Given the description of an element on the screen output the (x, y) to click on. 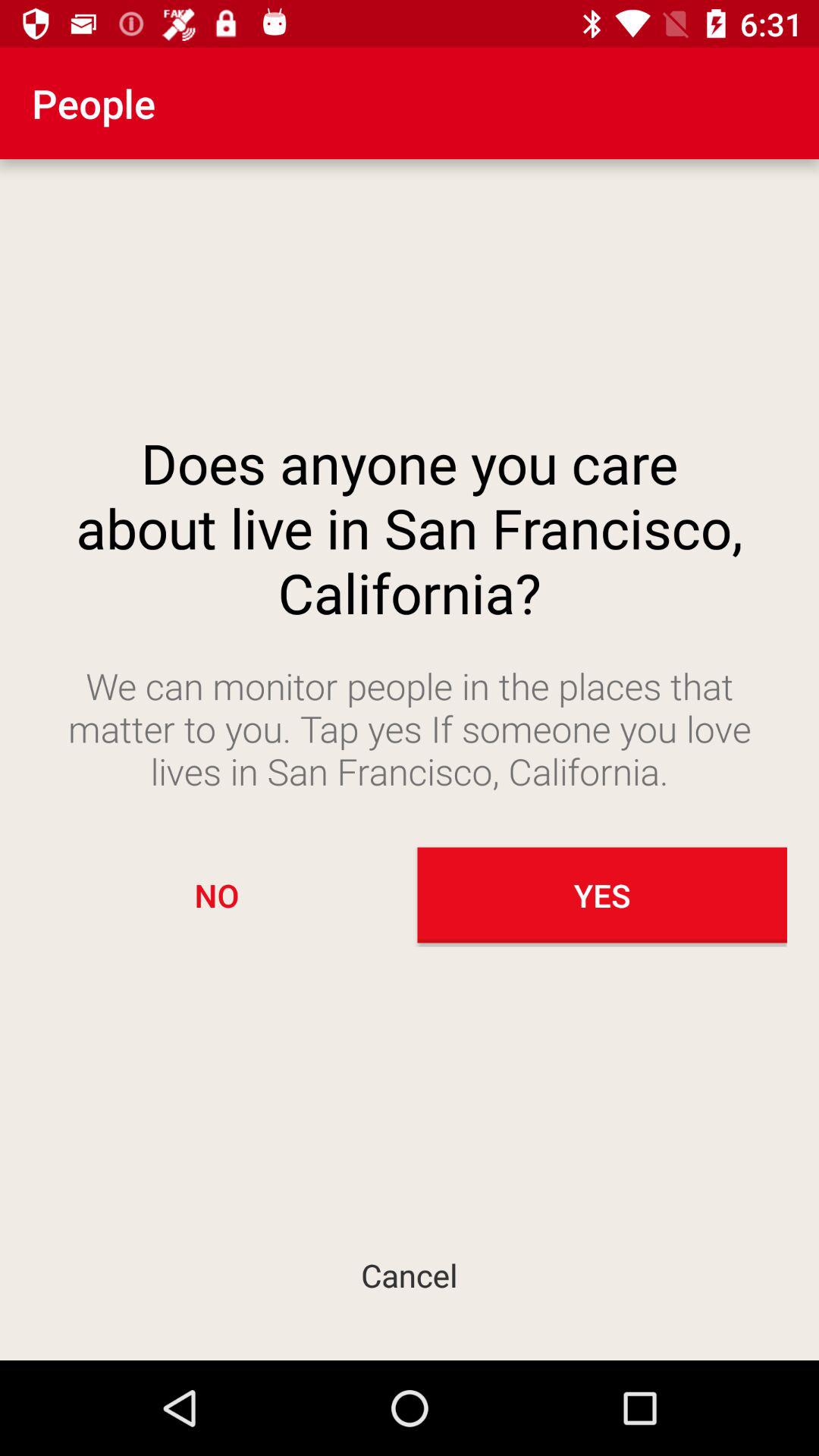
click the icon next to yes item (216, 894)
